Given the description of an element on the screen output the (x, y) to click on. 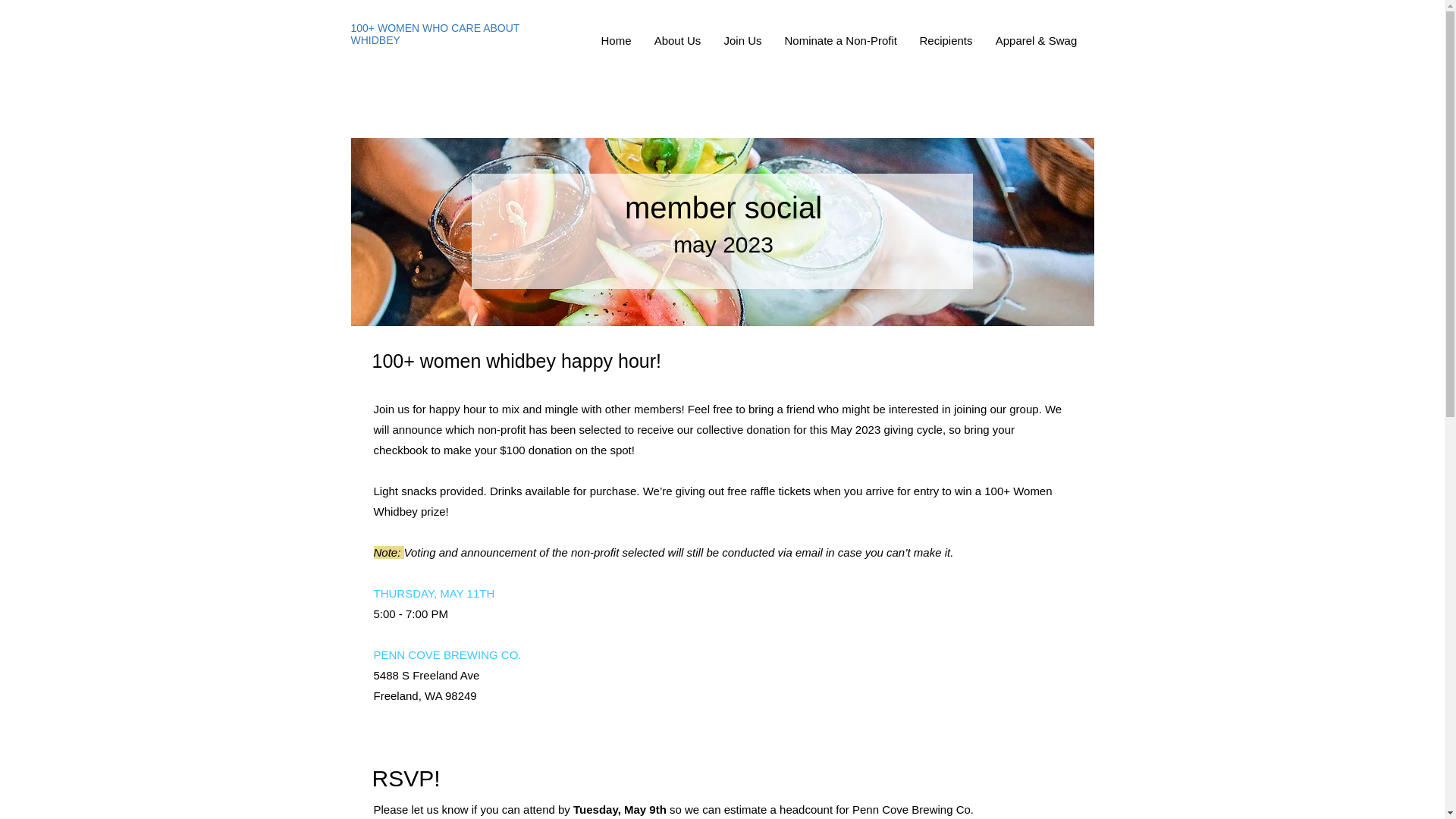
Recipients (946, 40)
About Us (678, 40)
Join Us (743, 40)
Home (616, 40)
Nominate a Non-Profit (840, 40)
